Given the description of an element on the screen output the (x, y) to click on. 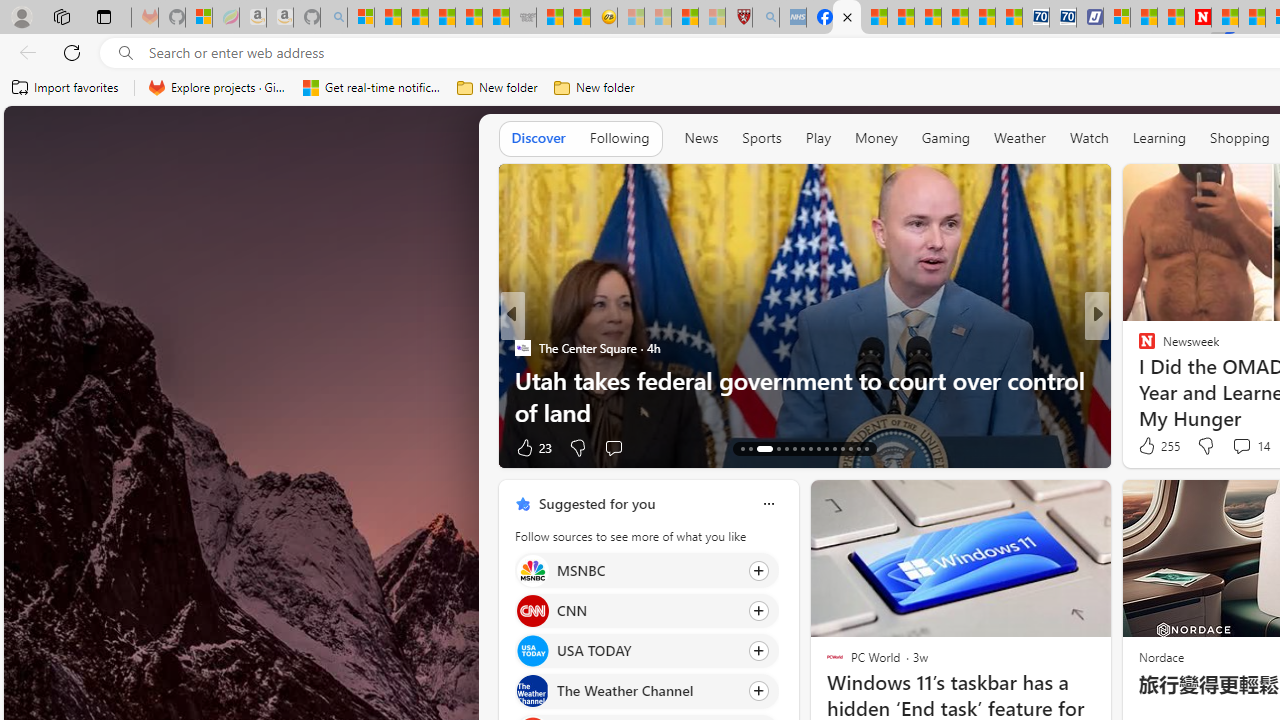
AutomationID: tab-75 (825, 448)
Click to follow source CNN (646, 610)
Southern Living (1138, 347)
News Nation (1138, 380)
2k Like (1148, 447)
Import favorites (65, 88)
99 Like (1149, 447)
AutomationID: tab-66 (742, 448)
